Given the description of an element on the screen output the (x, y) to click on. 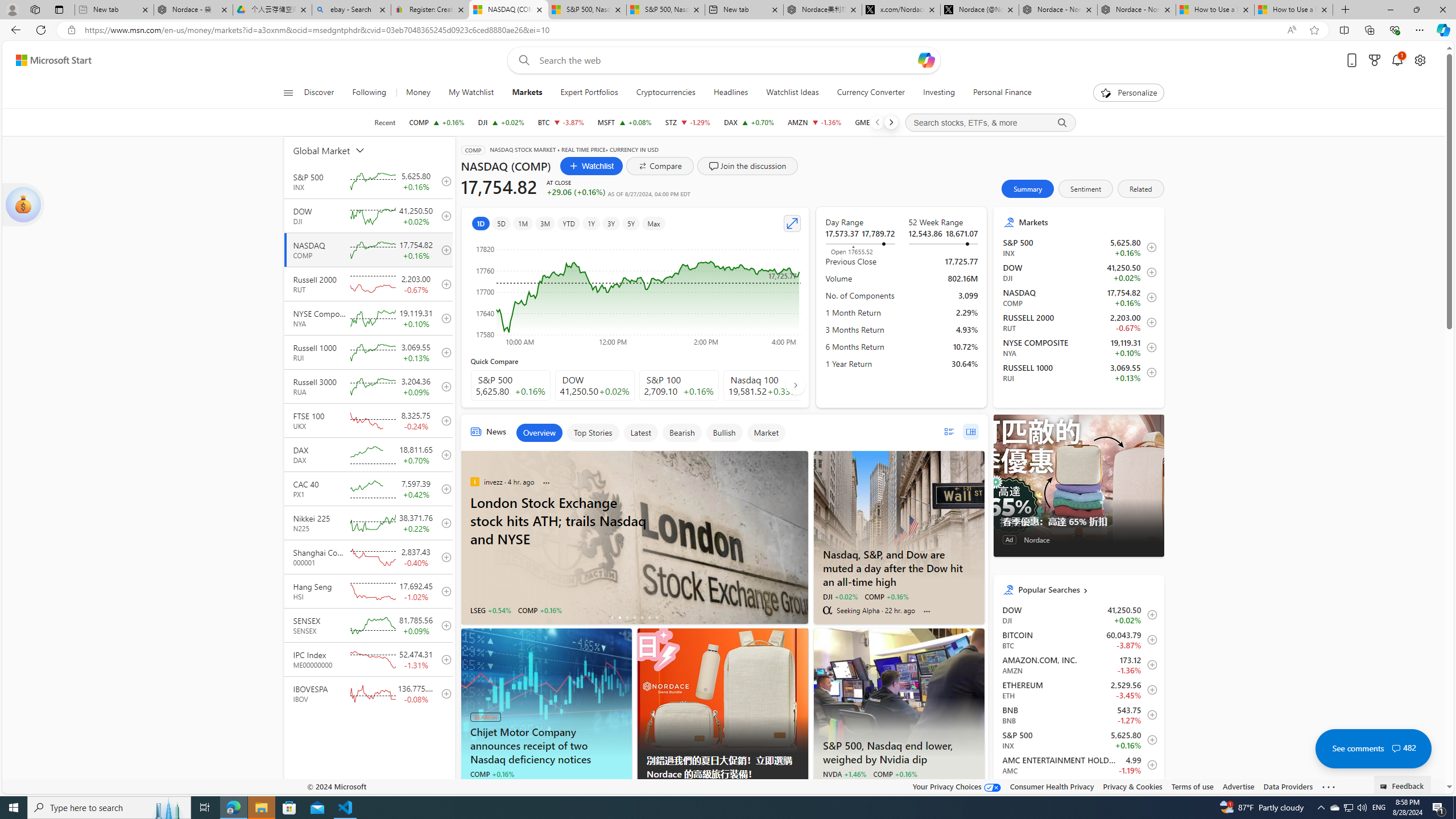
LSEG +0.54% (490, 610)
Terms of use (1192, 786)
BNB BNB decrease 543.75 -6.88 -1.27% itemundefined (1078, 714)
DJI DOW increase 41,250.50 +9.98 +0.02% itemundefined (1078, 614)
INX S&P 500 increase 5,625.80 +8.96 +0.16% itemundefined (1078, 739)
STZ CONSTELLATION BRANDS, INC. decrease 239.98 -3.13 -1.29% (687, 122)
Your Privacy Choices (956, 786)
